Given the description of an element on the screen output the (x, y) to click on. 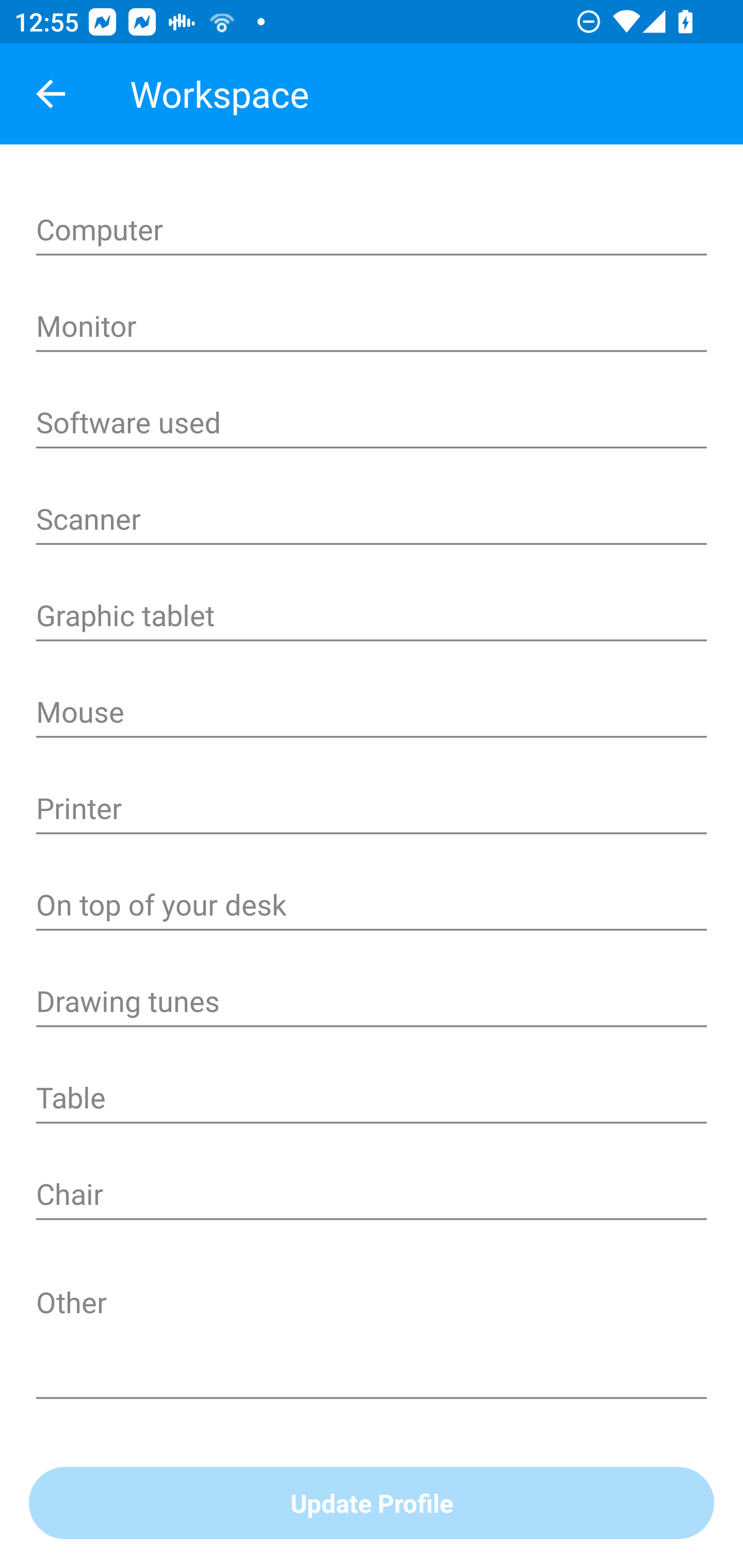
Navigate up (50, 93)
Computer (371, 230)
Monitor (371, 328)
Software used (371, 423)
Scanner (371, 520)
Graphic tablet (371, 616)
Mouse (371, 713)
Printer (371, 809)
On top of your desk (371, 906)
Drawing tunes (371, 1002)
Table (371, 1099)
Chair (371, 1195)
Other (371, 1340)
Update Profile (371, 1503)
